Given the description of an element on the screen output the (x, y) to click on. 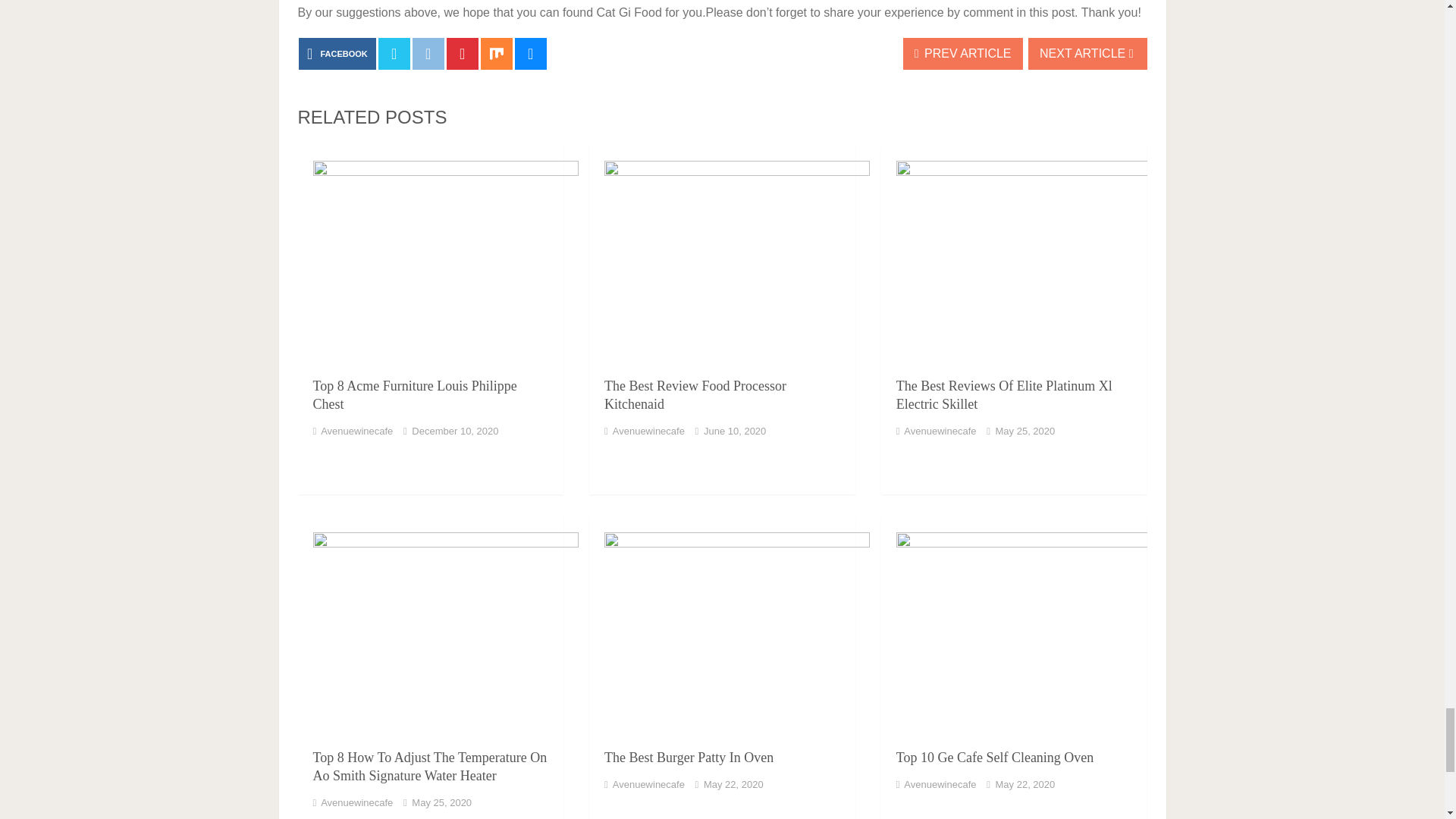
The Best Reviews Of Elite Platinum Xl Electric Skillet (1004, 394)
Posts by avenuewinecafe (648, 430)
The Best Review Food Processor Kitchenaid (695, 394)
The Best Reviews Of Elite Platinum Xl Electric Skillet (1013, 255)
Posts by avenuewinecafe (939, 430)
The Best Review Food Processor Kitchenaid (722, 255)
Posts by avenuewinecafe (356, 430)
Top 8 Acme Furniture Louis Philippe Chest (430, 255)
Top 8 Acme Furniture Louis Philippe Chest (414, 394)
